Given the description of an element on the screen output the (x, y) to click on. 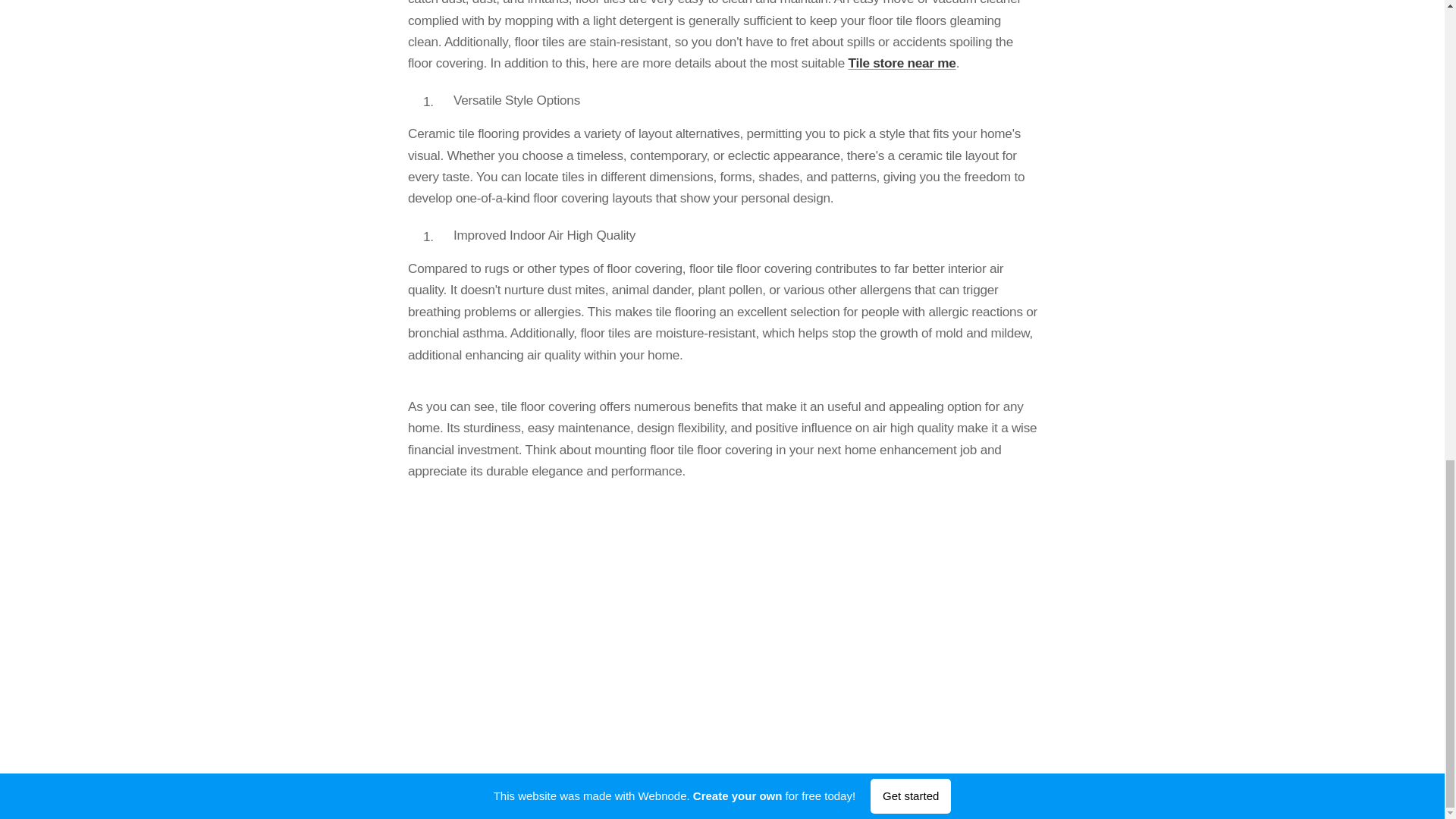
Tile store near me (901, 62)
